Given the description of an element on the screen output the (x, y) to click on. 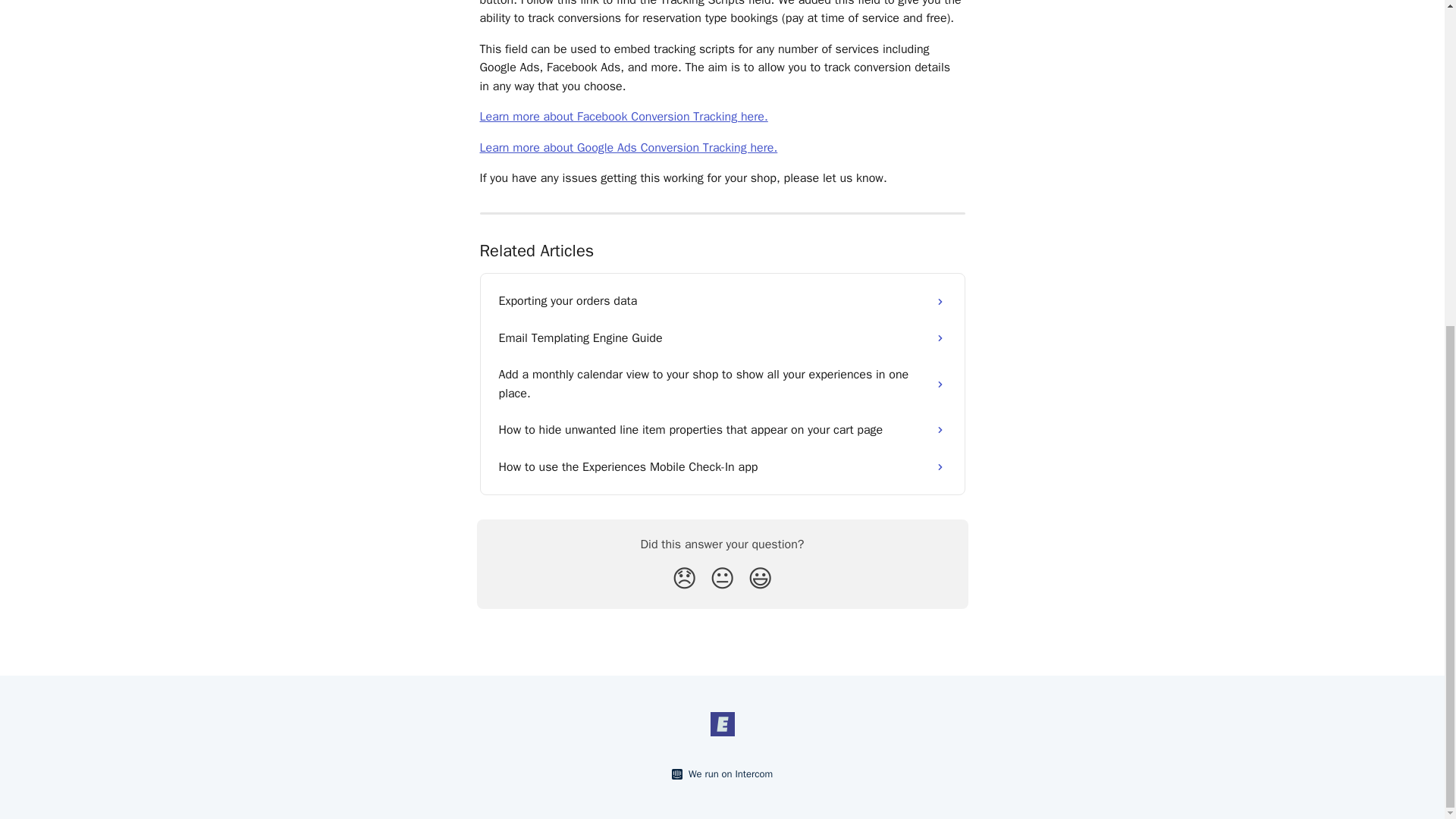
How to use the Experiences Mobile Check-In app (722, 466)
Learn more about Facebook Conversion Tracking here. (623, 116)
Learn more about Google Ads Conversion Tracking here. (628, 147)
Exporting your orders data (722, 300)
We run on Intercom (727, 774)
Email Templating Engine Guide (722, 338)
